Given the description of an element on the screen output the (x, y) to click on. 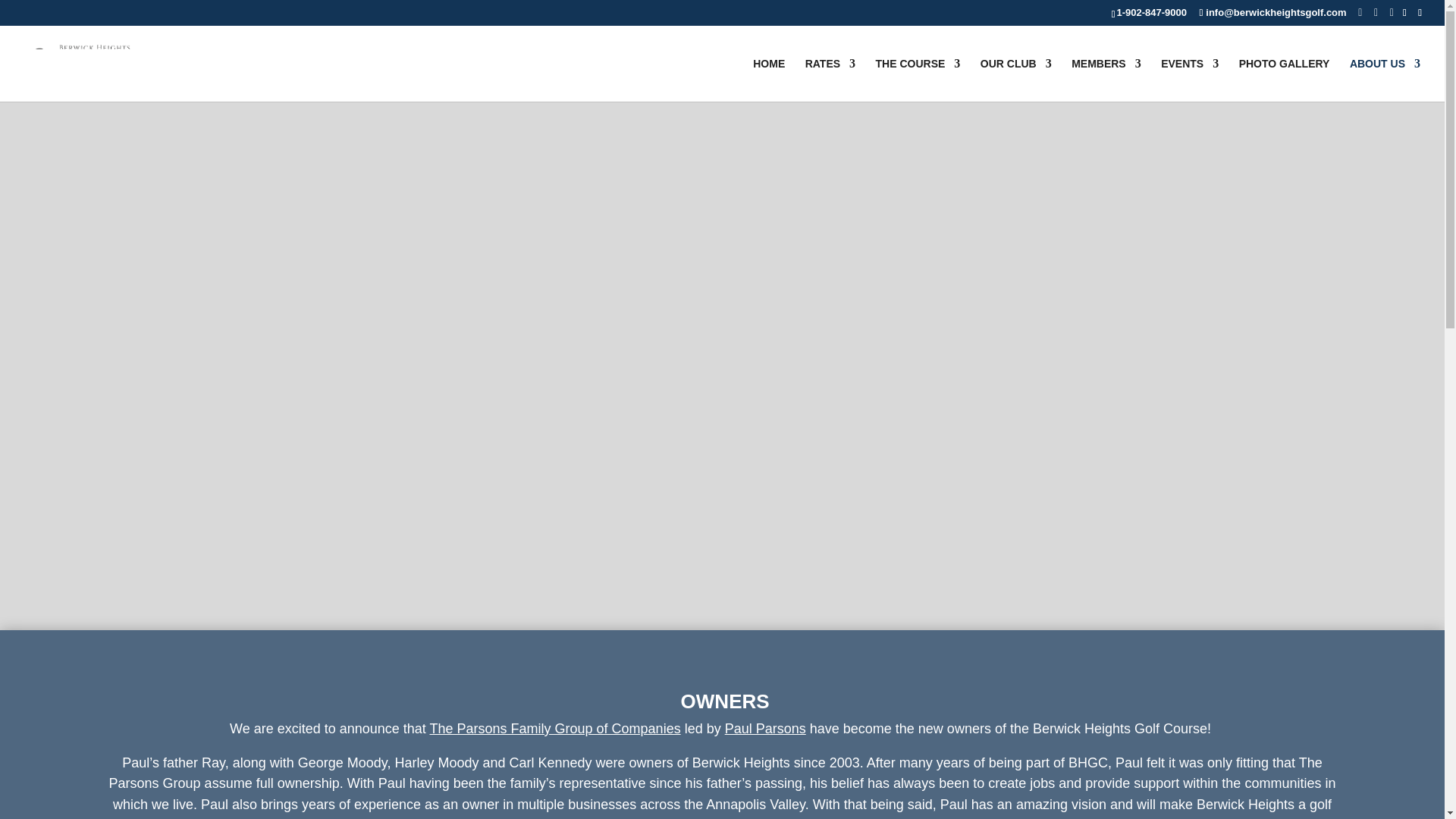
THE COURSE (918, 78)
OUR CLUB (1015, 78)
1-902-847-9000 (1151, 12)
MEMBERS (1106, 78)
EVENTS (1189, 78)
RATES (830, 78)
